Given the description of an element on the screen output the (x, y) to click on. 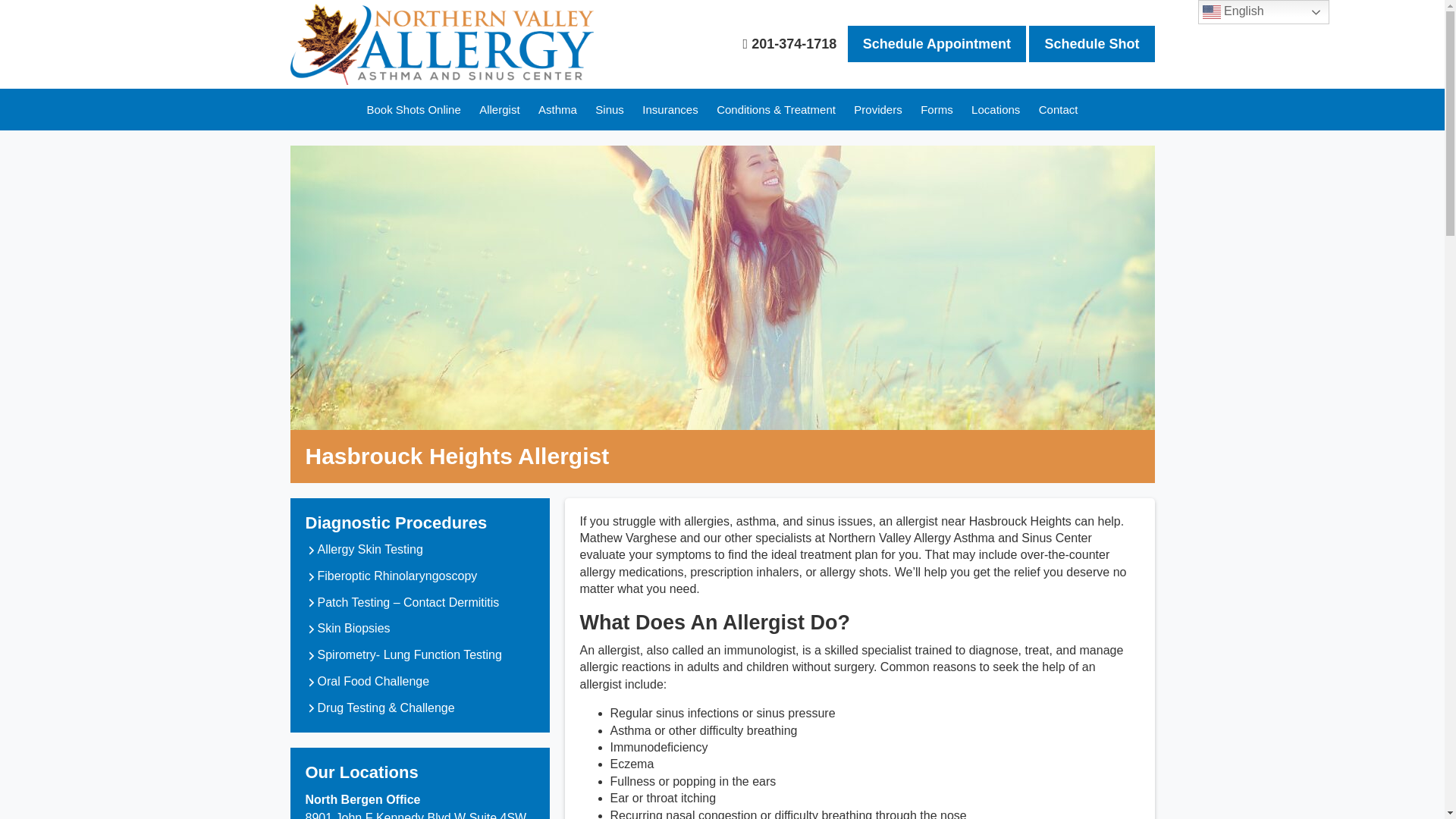
Schedule Shot (1090, 43)
Insurances (669, 109)
Sinus (609, 109)
Schedule Appointment (936, 43)
Book Shots Online (413, 109)
Asthma (558, 109)
Locations (995, 109)
Contact (1058, 109)
Providers (876, 109)
201-374-1718 (789, 43)
Allergist (499, 109)
Forms (936, 109)
